Given the description of an element on the screen output the (x, y) to click on. 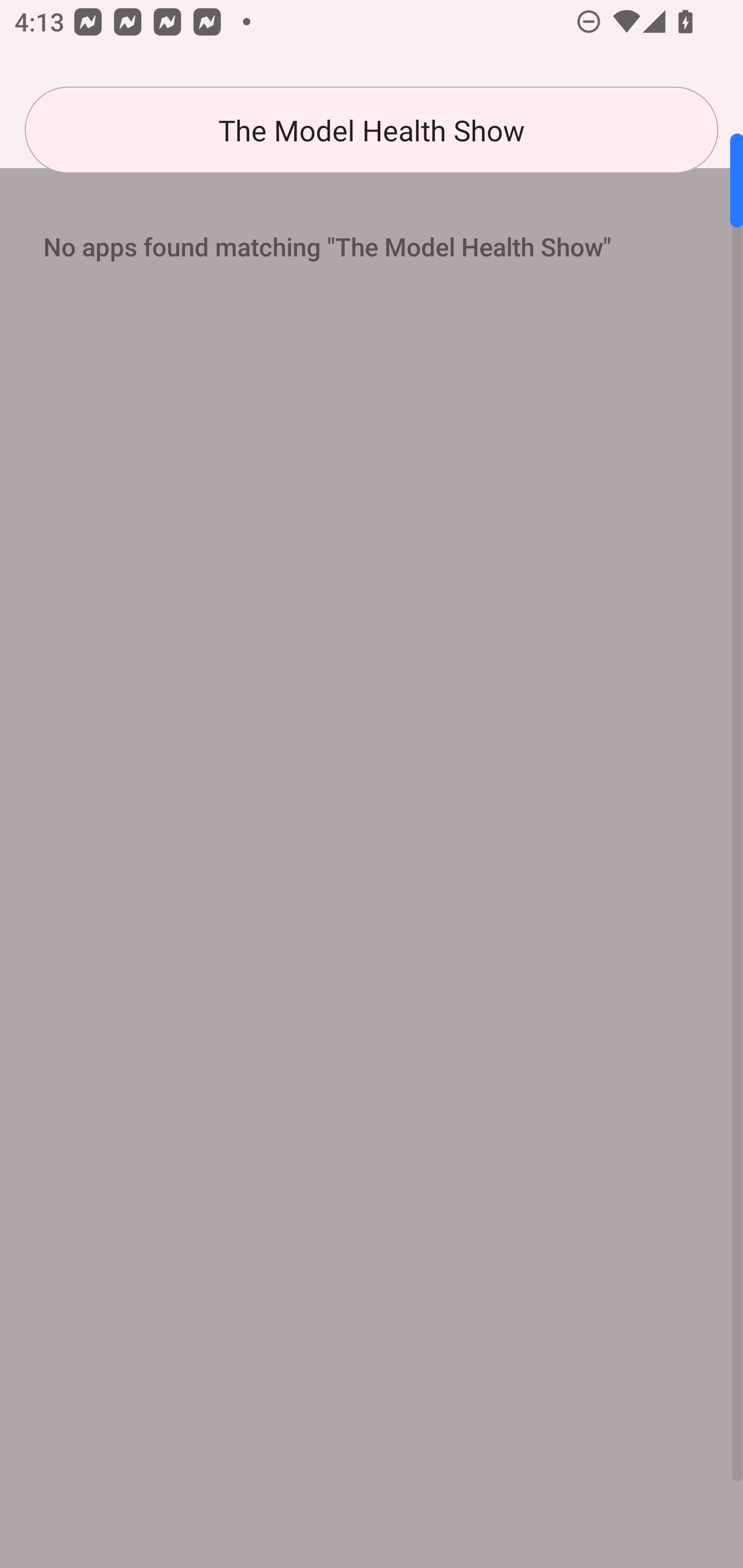
The Model Health Show (371, 130)
